Given the description of an element on the screen output the (x, y) to click on. 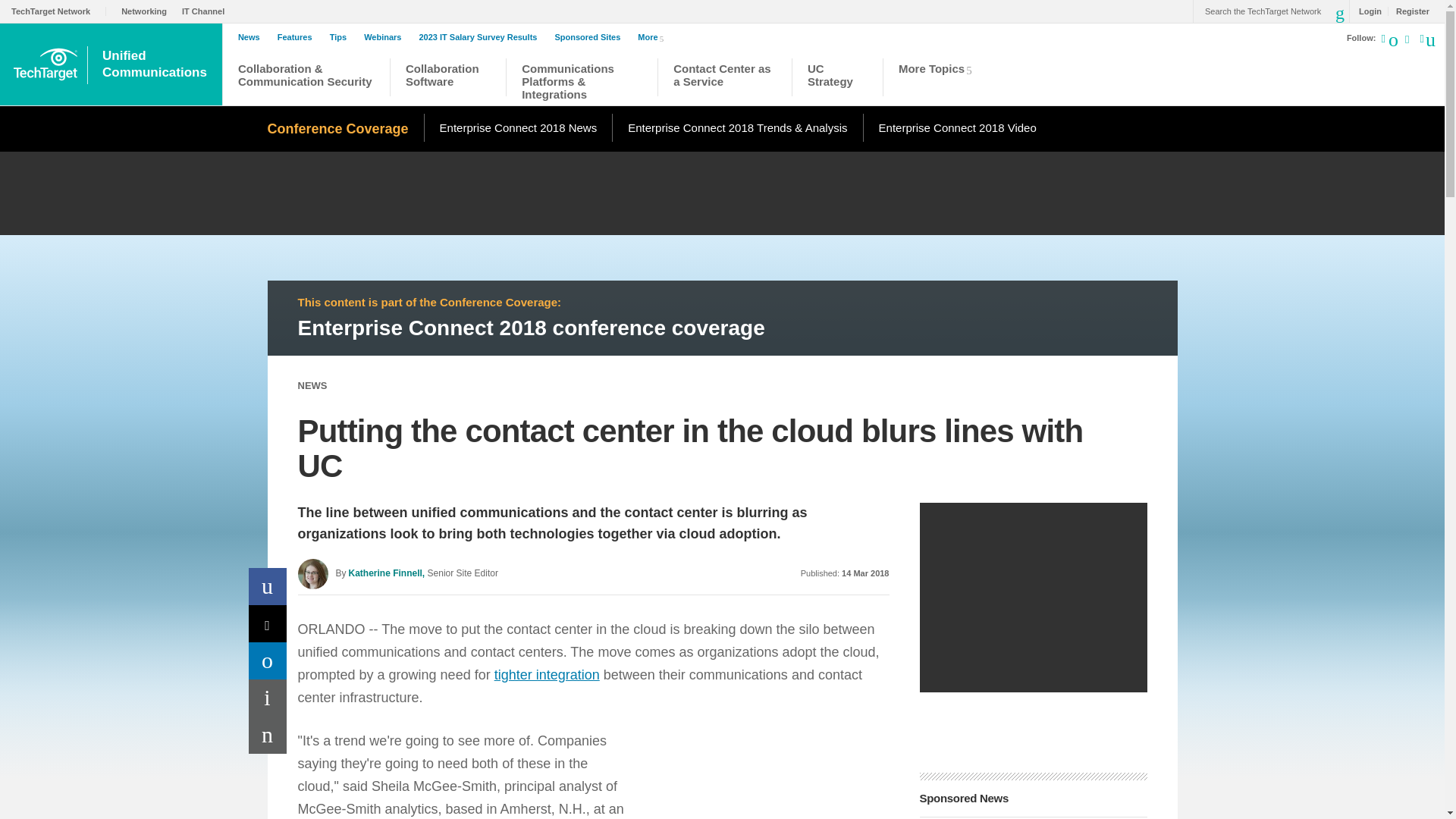
2023 IT Salary Survey Results (481, 36)
Register (1408, 10)
IT Channel (206, 10)
Print This Page (267, 697)
More (653, 36)
Login (1366, 10)
Contact Center as a Service (724, 79)
News (252, 36)
Networking (147, 10)
Tips (341, 36)
